Given the description of an element on the screen output the (x, y) to click on. 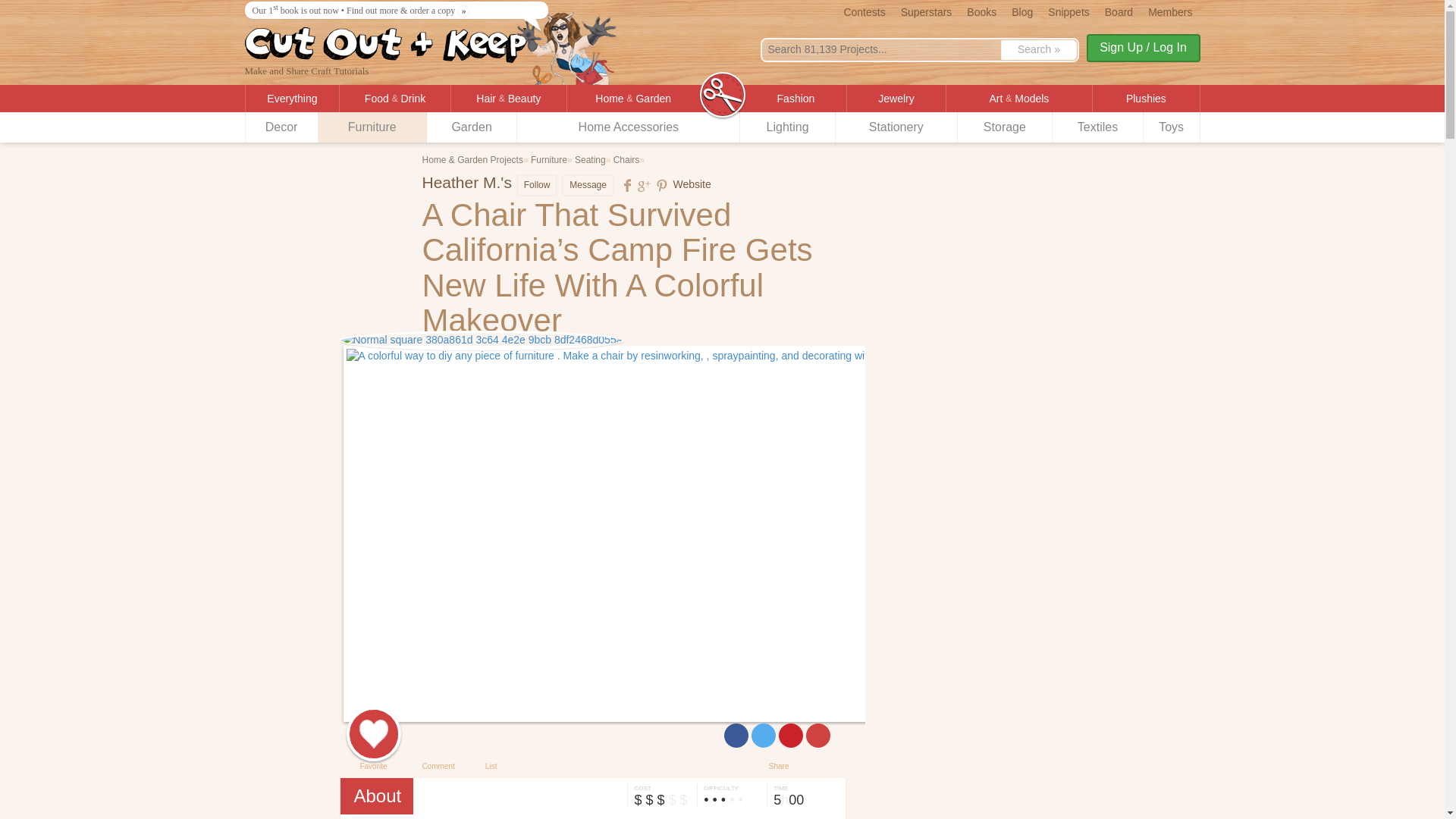
Blog (1022, 10)
Textiles (1097, 127)
Furniture (372, 127)
Board (1118, 10)
Lighting (787, 127)
Books (981, 10)
Share this project on Facebook (735, 735)
Stationery (896, 127)
Snippets (1068, 10)
Decor (282, 127)
